Given the description of an element on the screen output the (x, y) to click on. 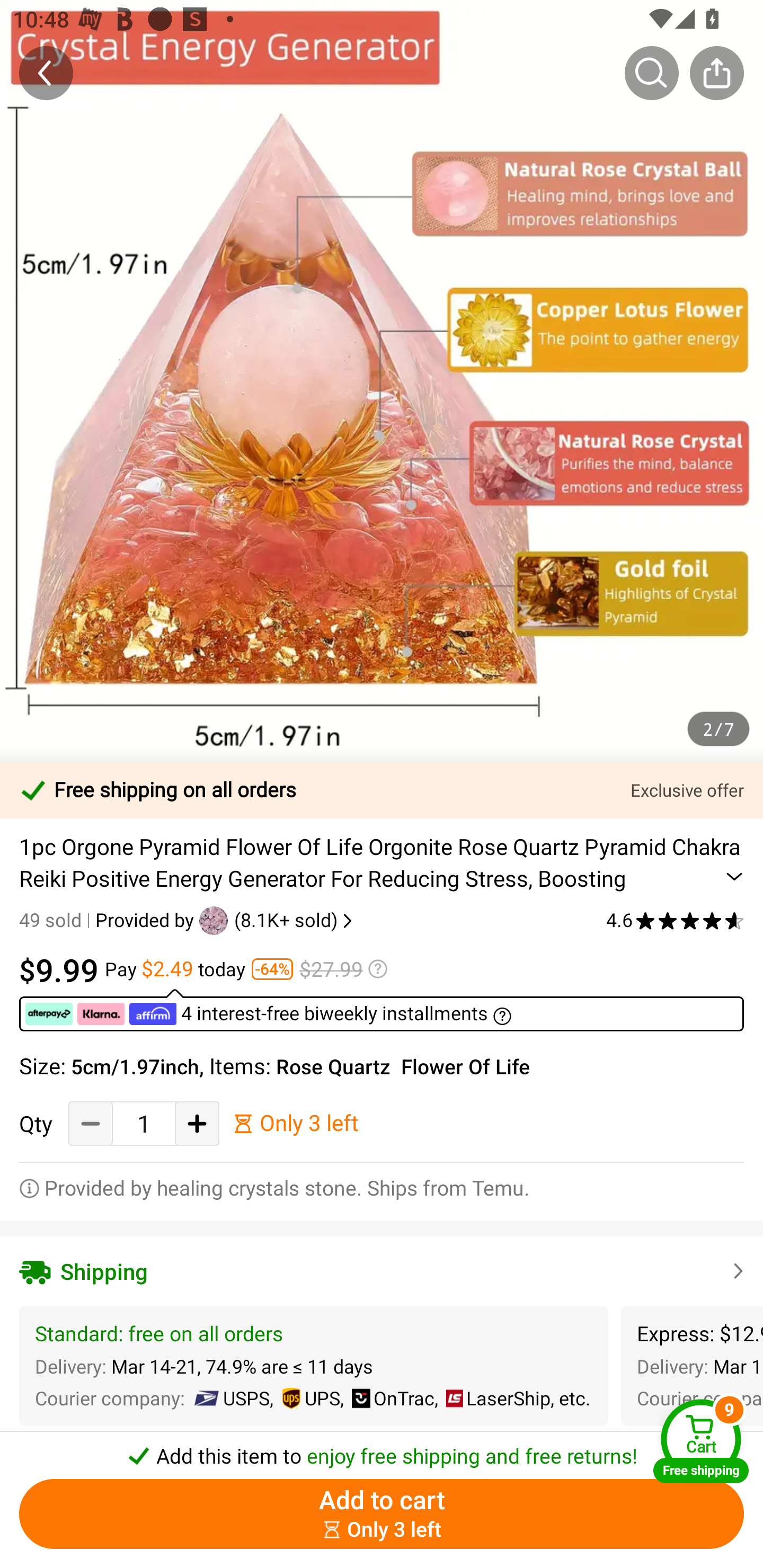
Back (46, 72)
Share (716, 72)
Free shipping on all orders Exclusive offer (381, 790)
4.6 (674, 920)
￼ ￼ ￼ 4 interest-free biweekly installments ￼ (381, 1009)
Decrease Quantity Button (90, 1123)
1 (143, 1123)
Add Quantity button (196, 1123)
Shipping (381, 1271)
Cart Free shipping Cart (701, 1440)
Add to cart ￼￼Only 3 left (381, 1513)
